Given the description of an element on the screen output the (x, y) to click on. 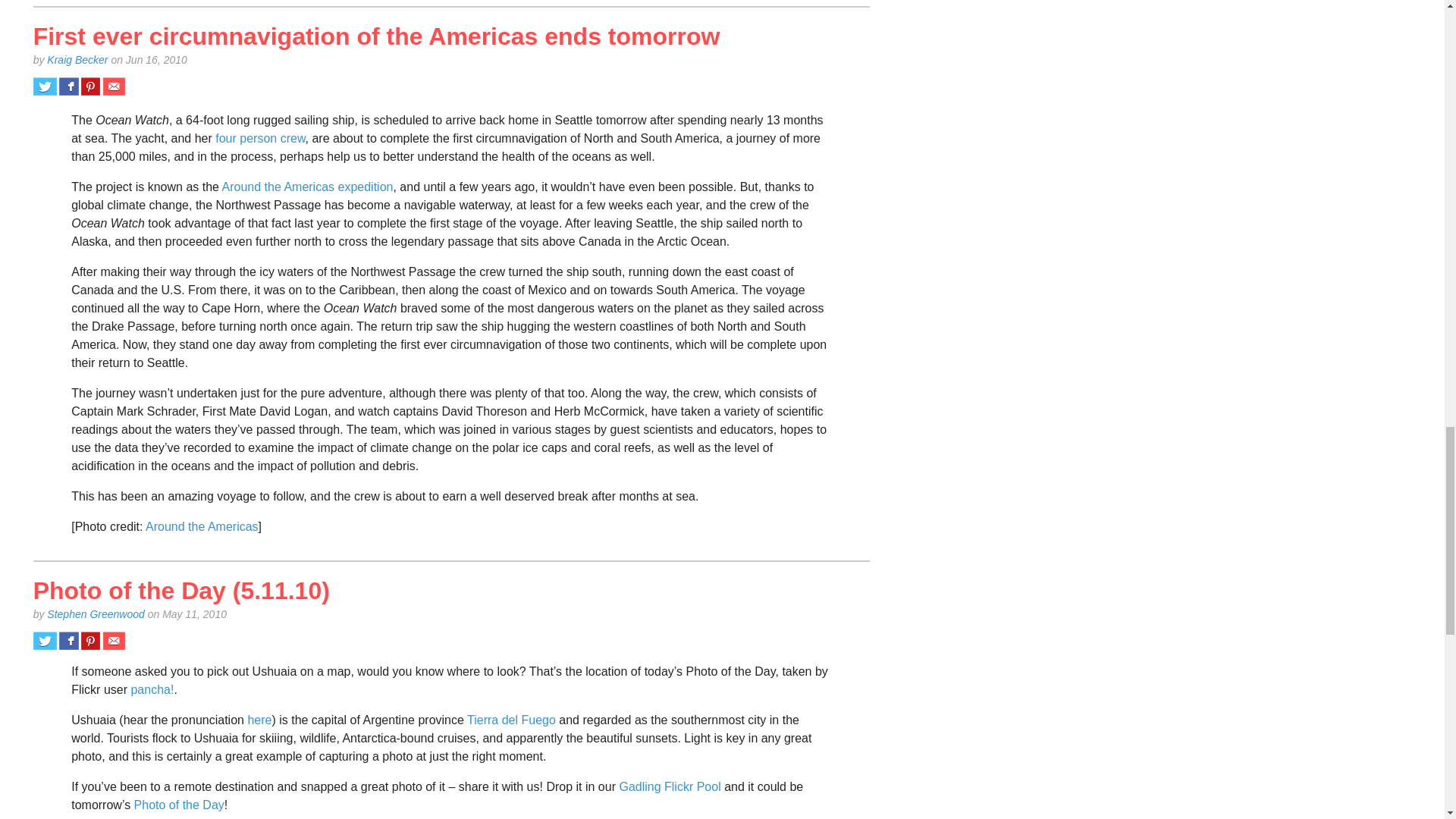
First ever circumnavigation of the Americas ends tomorrow (376, 35)
